Given the description of an element on the screen output the (x, y) to click on. 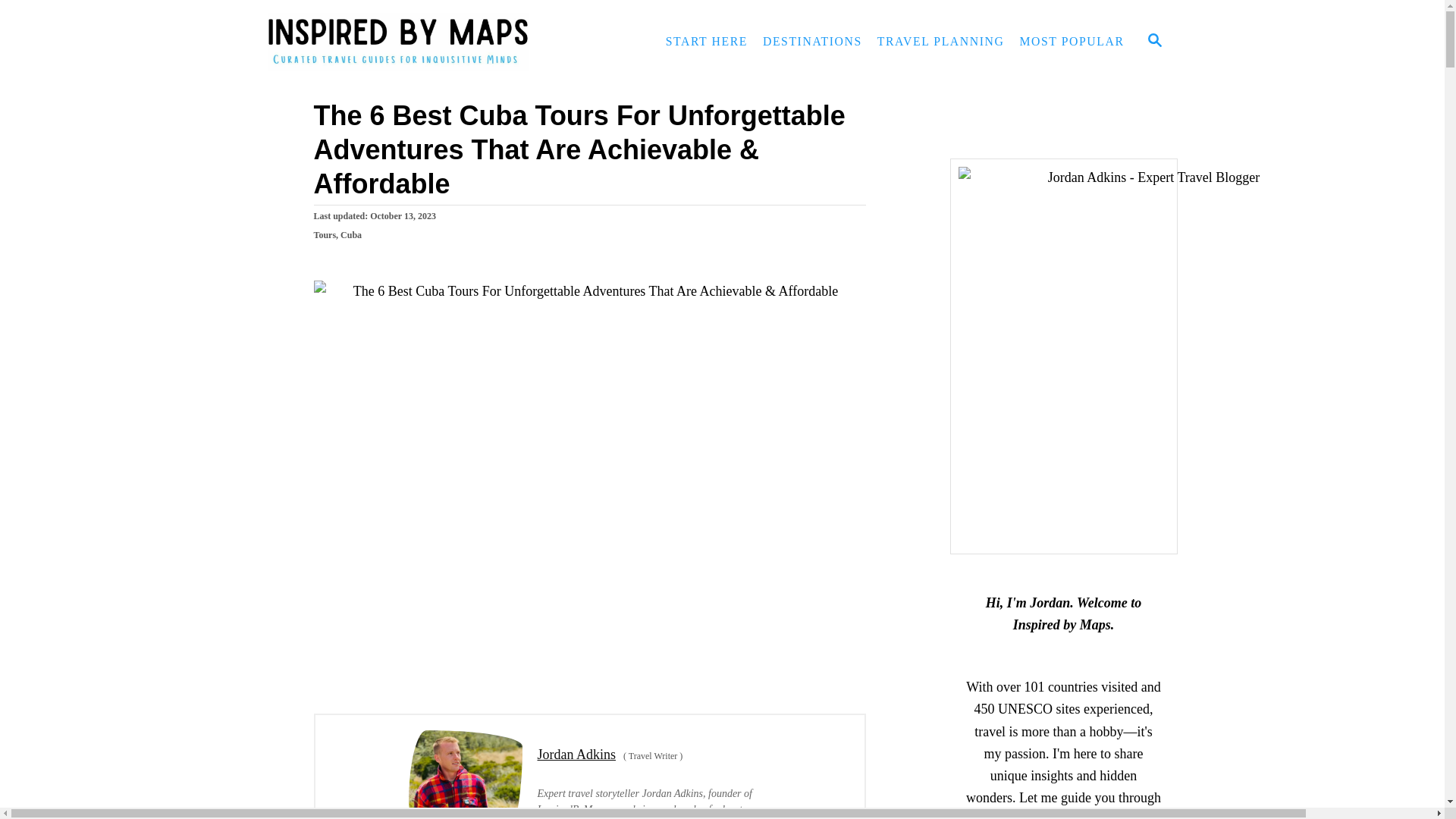
DESTINATIONS (812, 41)
SEARCH (1153, 40)
Inspired By Maps (403, 41)
START HERE (706, 41)
